Given the description of an element on the screen output the (x, y) to click on. 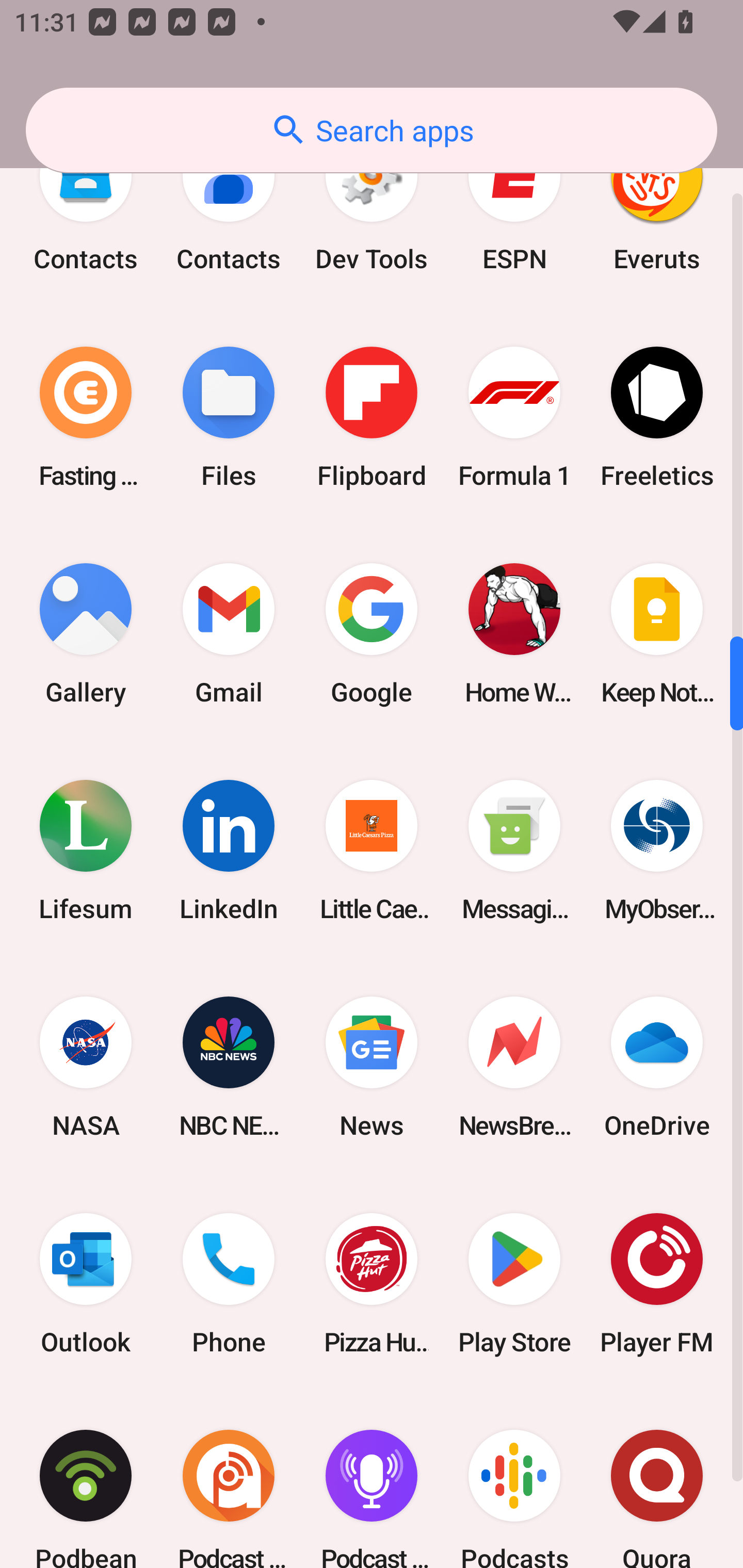
  Search apps (371, 130)
Contacts (85, 205)
Contacts (228, 205)
Dev Tools (371, 205)
ESPN (514, 205)
Everuts (656, 205)
Fasting Coach (85, 416)
Files (228, 416)
Flipboard (371, 416)
Formula 1 (514, 416)
Freeletics (656, 416)
Gallery (85, 633)
Gmail (228, 633)
Google (371, 633)
Home Workout (514, 633)
Keep Notes (656, 633)
Lifesum (85, 850)
LinkedIn (228, 850)
Little Caesars Pizza (371, 850)
Messaging (514, 850)
MyObservatory (656, 850)
NASA (85, 1067)
NBC NEWS (228, 1067)
News (371, 1067)
NewsBreak (514, 1067)
OneDrive (656, 1067)
Outlook (85, 1284)
Phone (228, 1284)
Pizza Hut HK & Macau (371, 1284)
Play Store (514, 1284)
Player FM (656, 1284)
Podbean (85, 1480)
Podcast Addict (228, 1480)
Podcast Player (371, 1480)
Podcasts (514, 1480)
Quora (656, 1480)
